Given the description of an element on the screen output the (x, y) to click on. 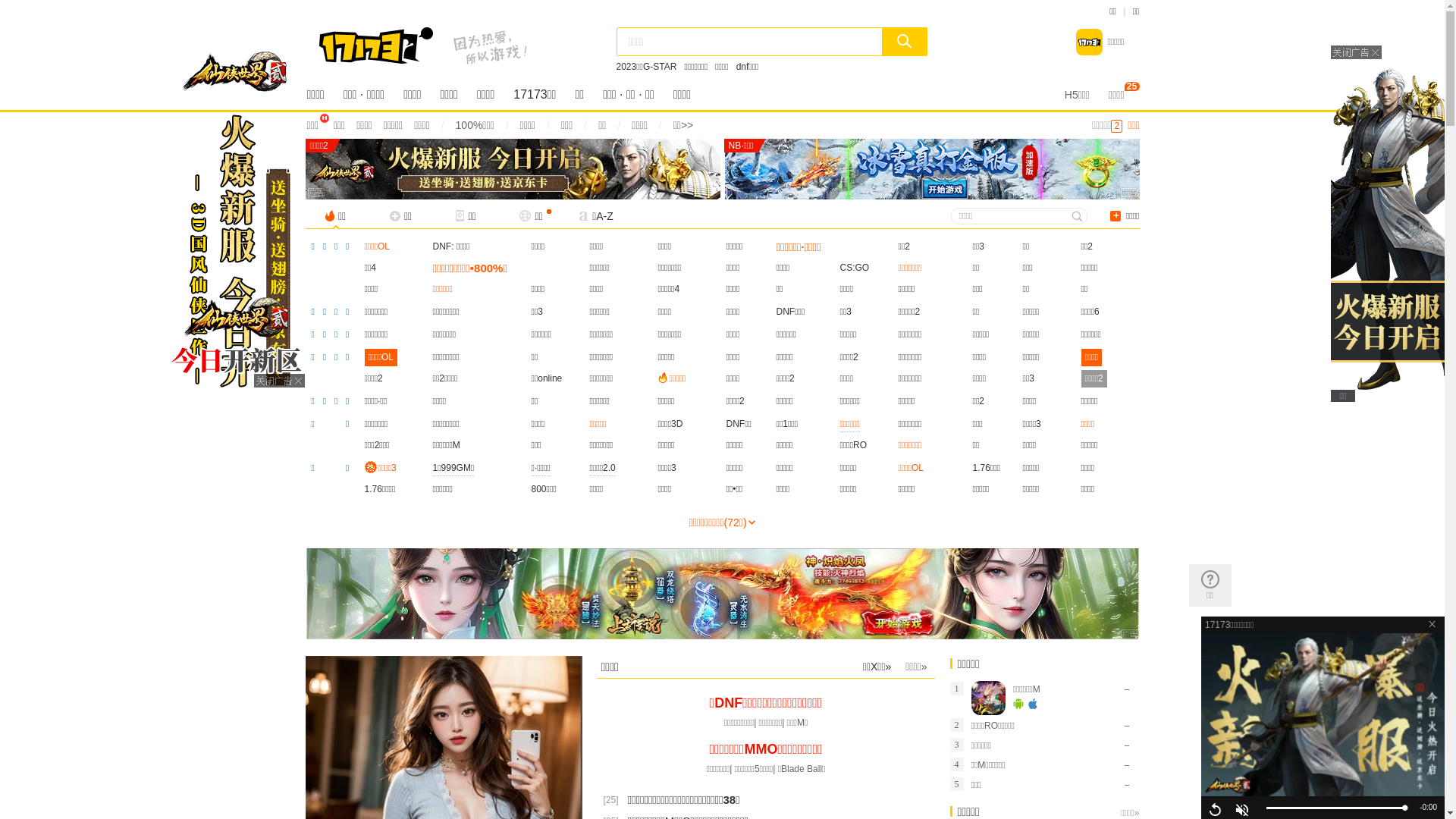
CS:GO Element type: text (854, 267)
